Given the description of an element on the screen output the (x, y) to click on. 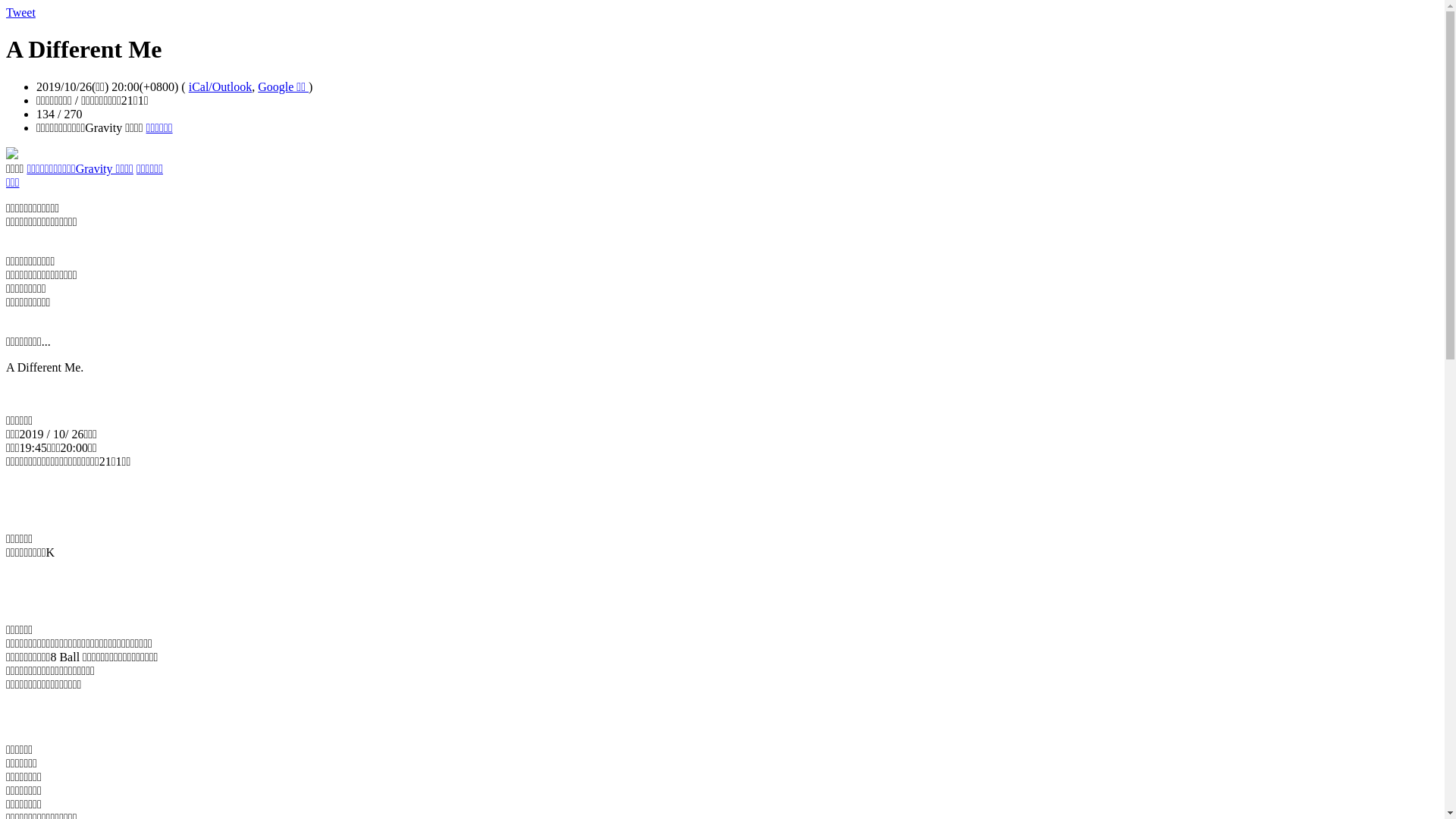
Tweet Element type: text (20, 12)
iCal/Outlook Element type: text (220, 86)
